Given the description of an element on the screen output the (x, y) to click on. 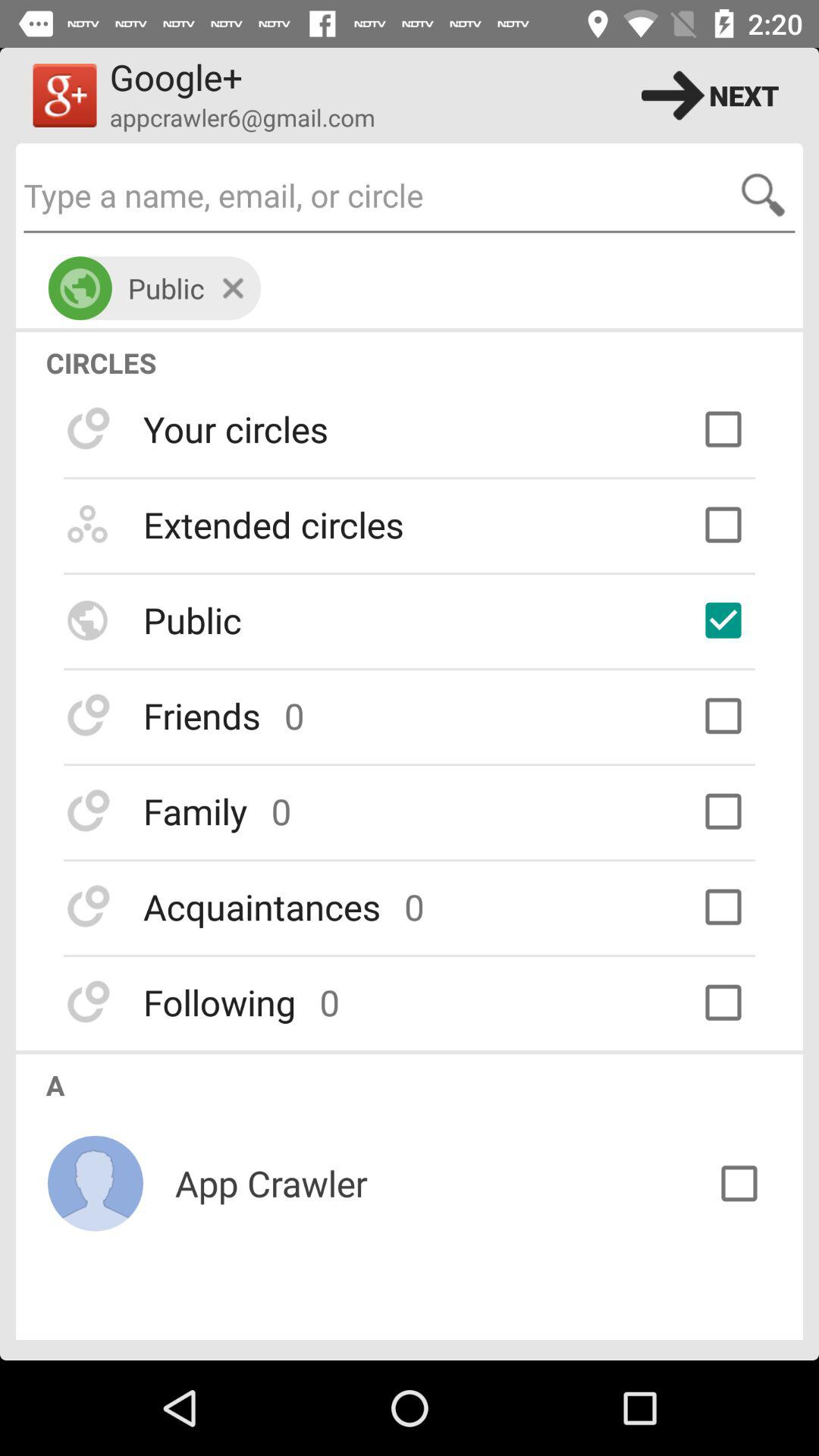
scroll until the next button (710, 95)
